Given the description of an element on the screen output the (x, y) to click on. 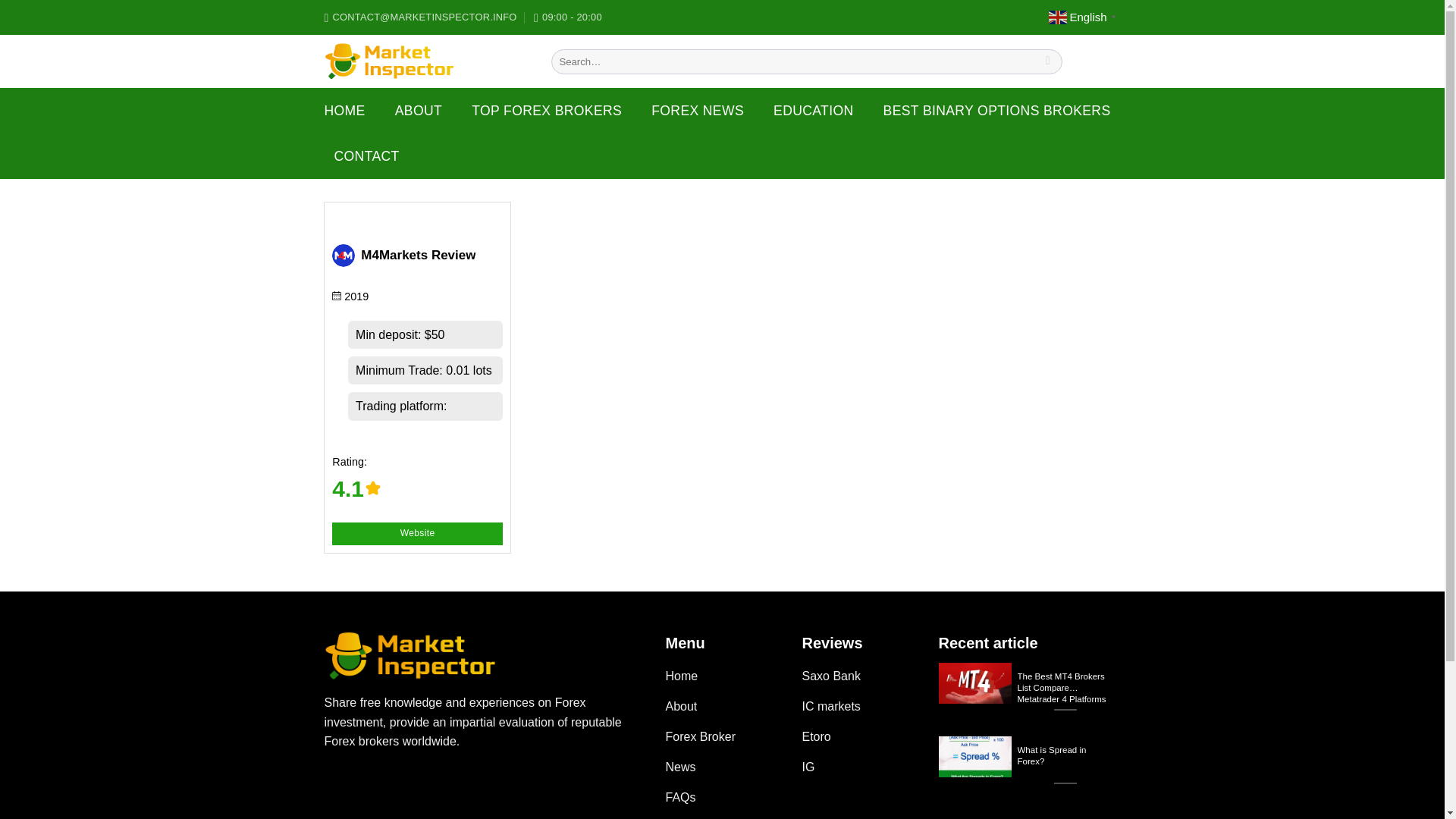
09:00 - 20:00  (568, 16)
News (721, 768)
Website (416, 533)
Saxo Bank (858, 677)
IC markets (858, 707)
CONTACT (365, 156)
EDUCATION (813, 110)
HOME (344, 110)
Forex Broker (721, 738)
TOP FOREX BROKERS (546, 110)
ABOUT (418, 110)
FOREX NEWS (697, 110)
BEST BINARY OPTIONS BROKERS (996, 110)
About (721, 707)
